Given the description of an element on the screen output the (x, y) to click on. 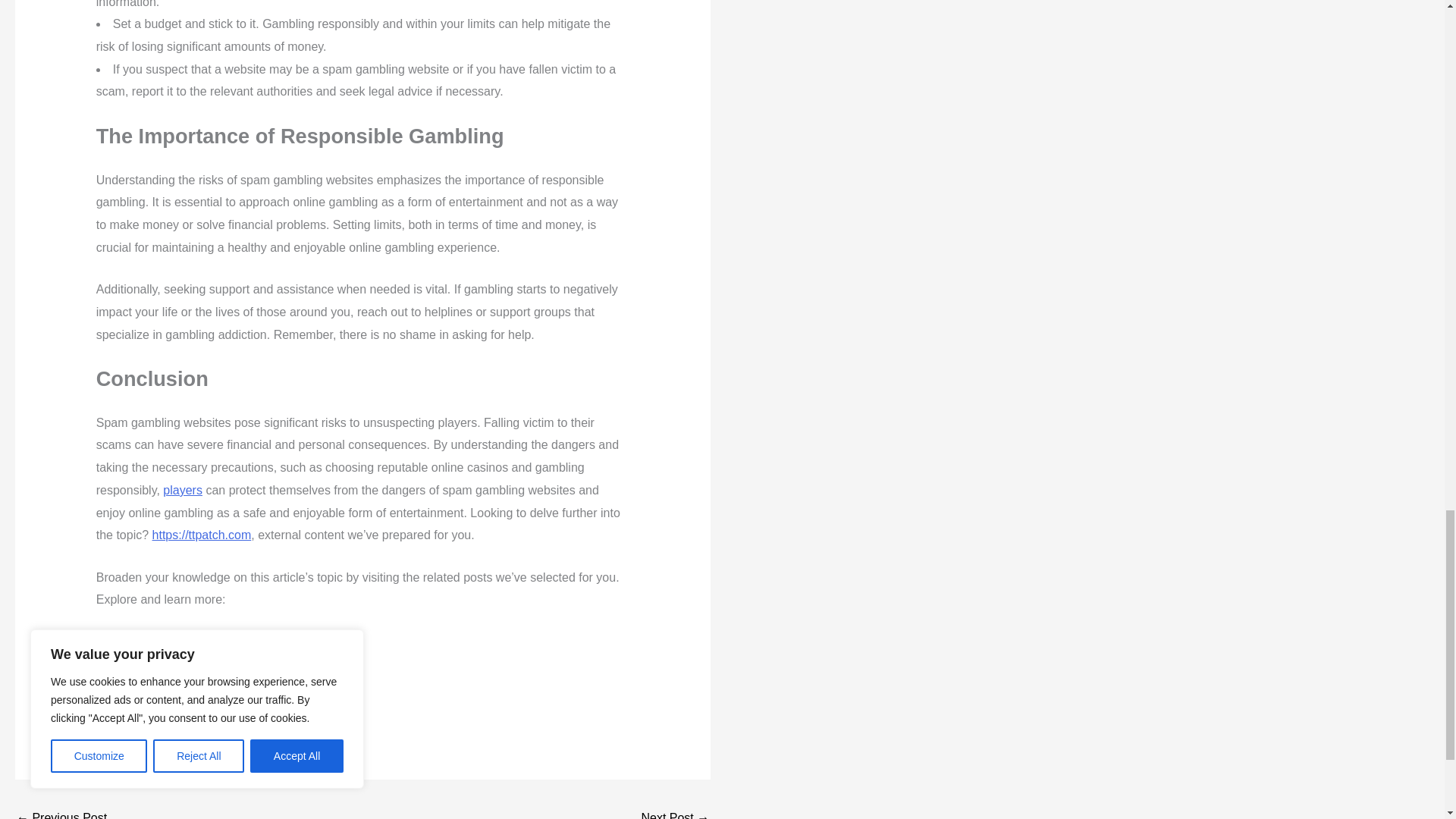
players (182, 490)
Examine this helpful content (171, 641)
Analyzing Stats and Trends for Successful Sports Betting (61, 812)
How to Choose a Reliable Sports Betting Website (674, 812)
Check out this interesting guide (180, 683)
